Given the description of an element on the screen output the (x, y) to click on. 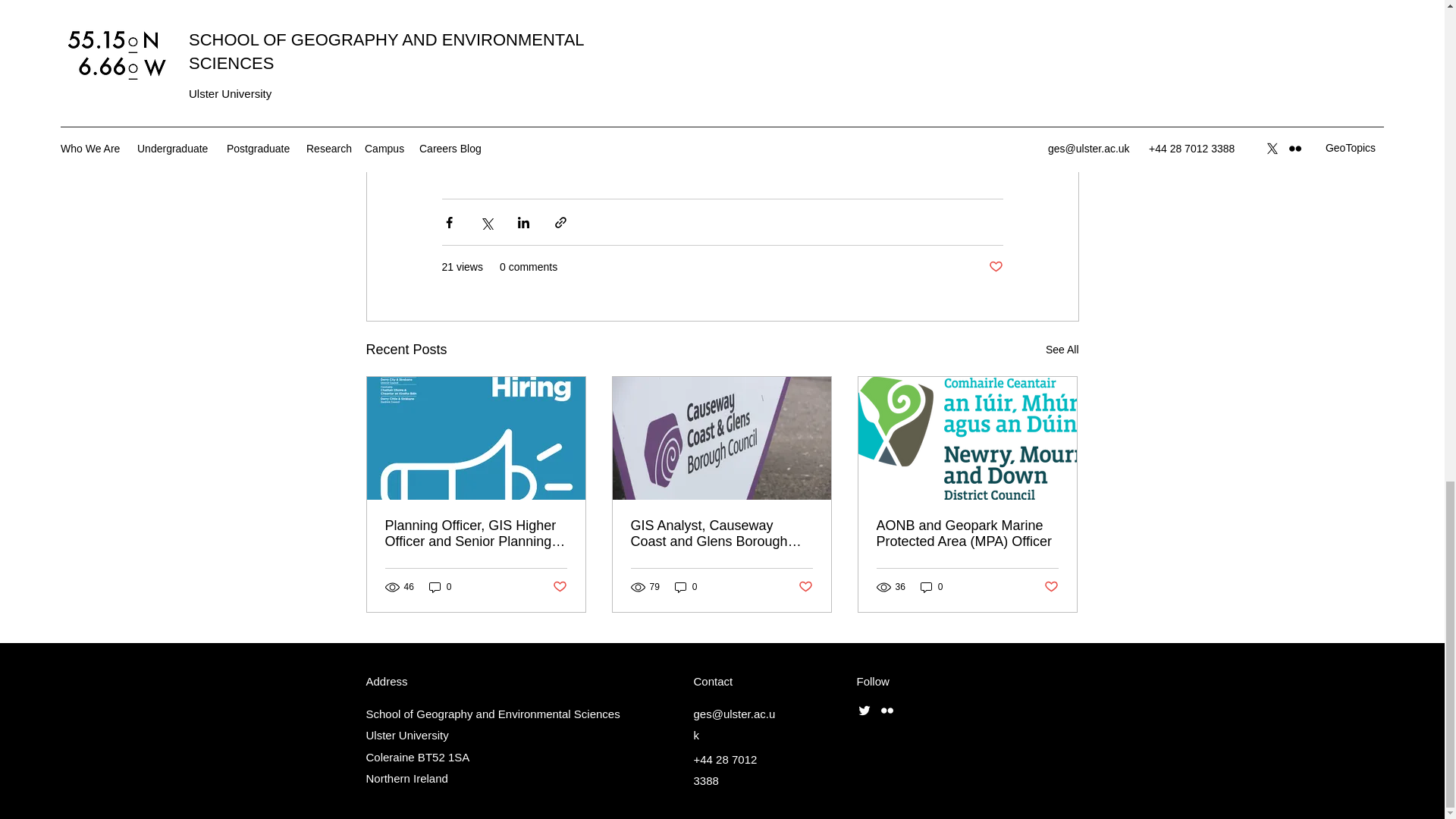
0 (685, 586)
GIS Analyst, Causeway Coast and Glens Borough Council (721, 533)
See All (1061, 350)
Post not marked as liked (558, 587)
0 (931, 586)
0 (440, 586)
Post not marked as liked (804, 587)
Post not marked as liked (995, 267)
Post not marked as liked (1050, 587)
